Given the description of an element on the screen output the (x, y) to click on. 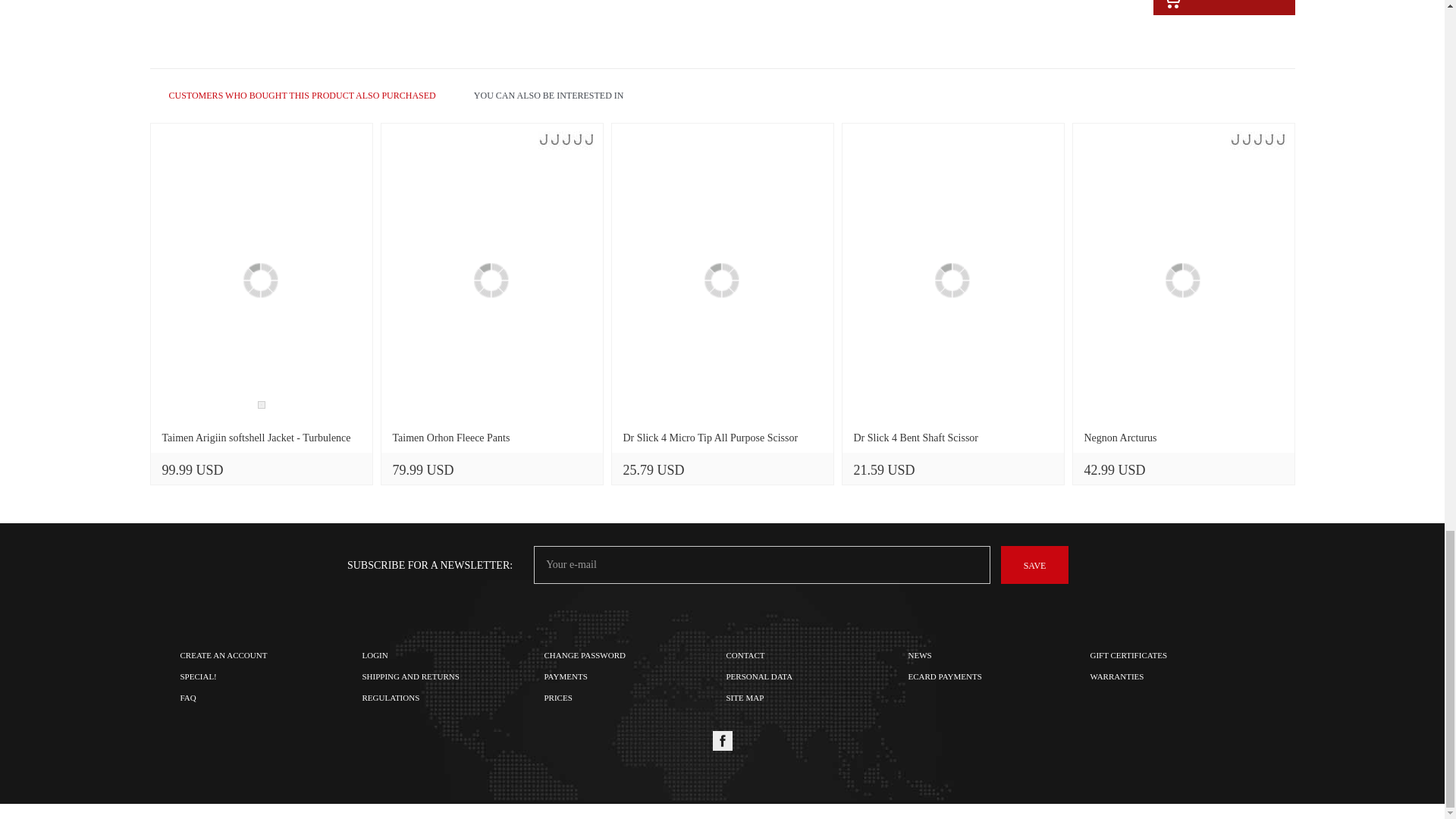
Taimen Orhon Fleece Pants (491, 280)
Dr Slick 4 Micro Tip All Purpose Scissor (722, 280)
Taimen Arigiin softshell Jacket - Turbulence (260, 280)
Dr Slick 4 Bent Shaft Scissor (952, 280)
Negnon Arcturus (1183, 280)
